Given the description of an element on the screen output the (x, y) to click on. 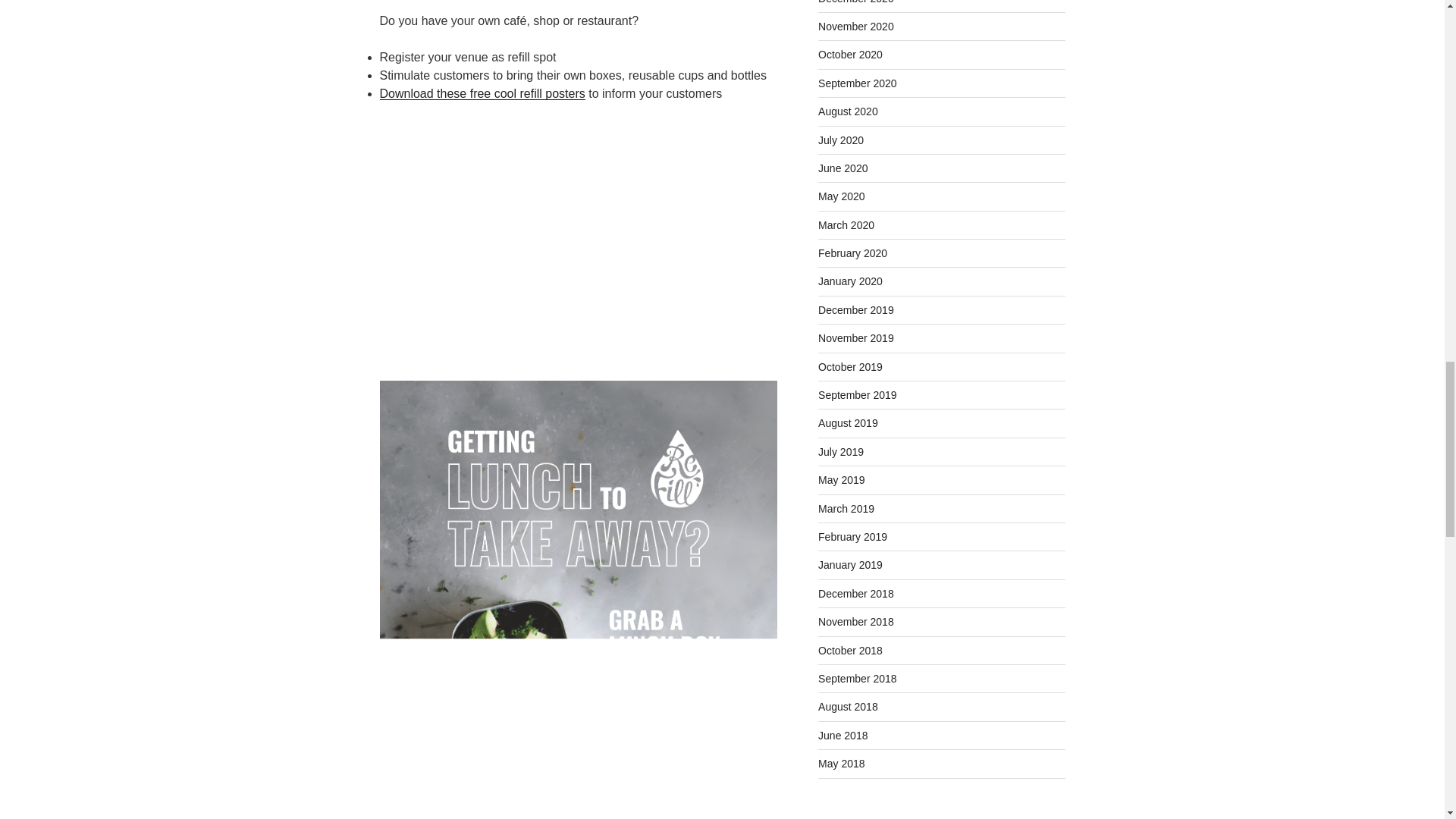
Water Refills: a Guide to Refilling Safely (577, 232)
Download these free cool refill posters (481, 92)
